Given the description of an element on the screen output the (x, y) to click on. 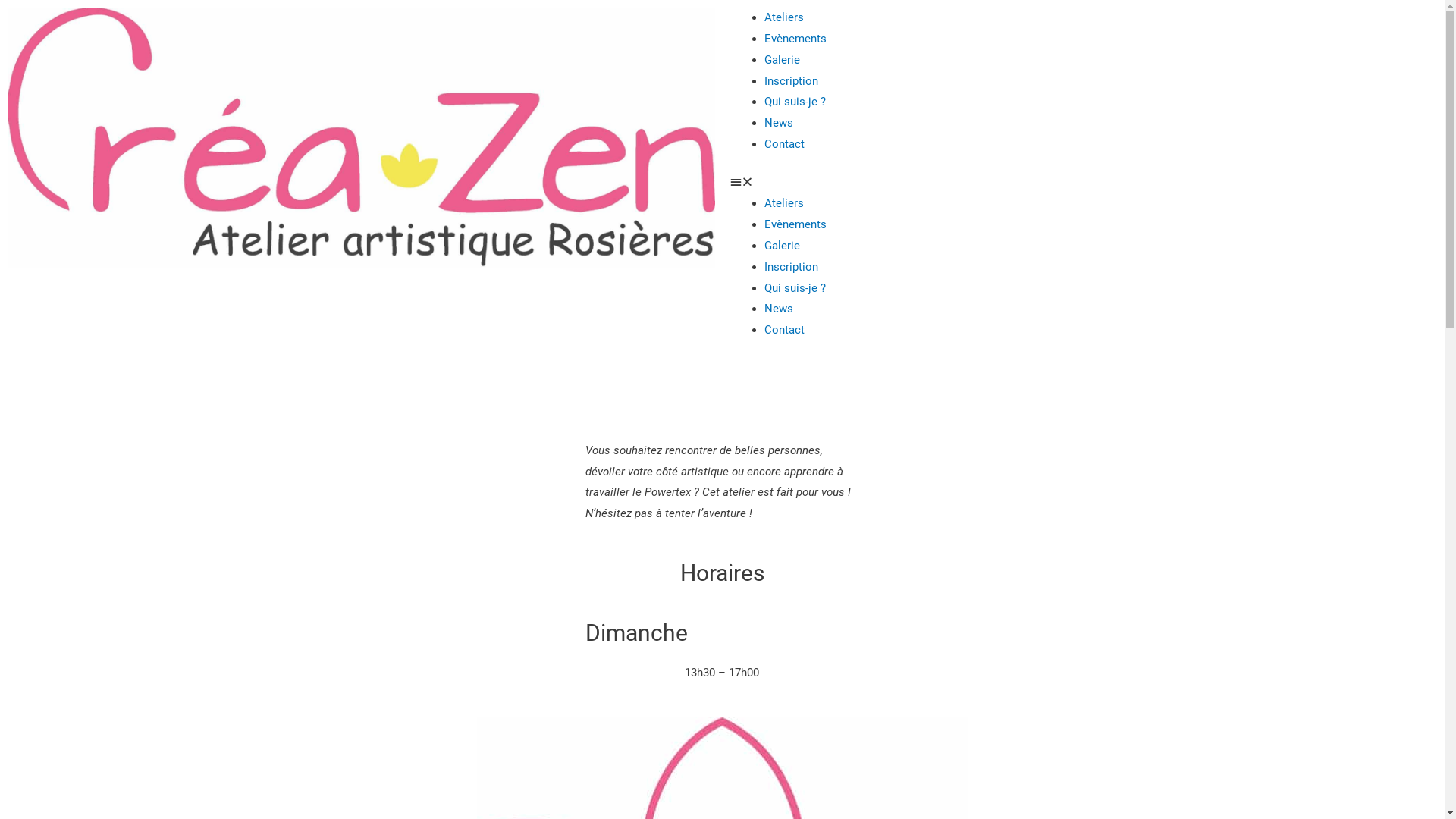
News Element type: text (778, 122)
Ateliers Element type: text (783, 17)
Inscription Element type: text (791, 266)
Galerie Element type: text (782, 245)
Qui suis-je ? Element type: text (794, 287)
Inscription Element type: text (791, 80)
News Element type: text (778, 308)
Contact Element type: text (784, 143)
Qui suis-je ? Element type: text (794, 101)
Galerie Element type: text (782, 59)
Contact Element type: text (784, 329)
Ateliers Element type: text (783, 203)
